Given the description of an element on the screen output the (x, y) to click on. 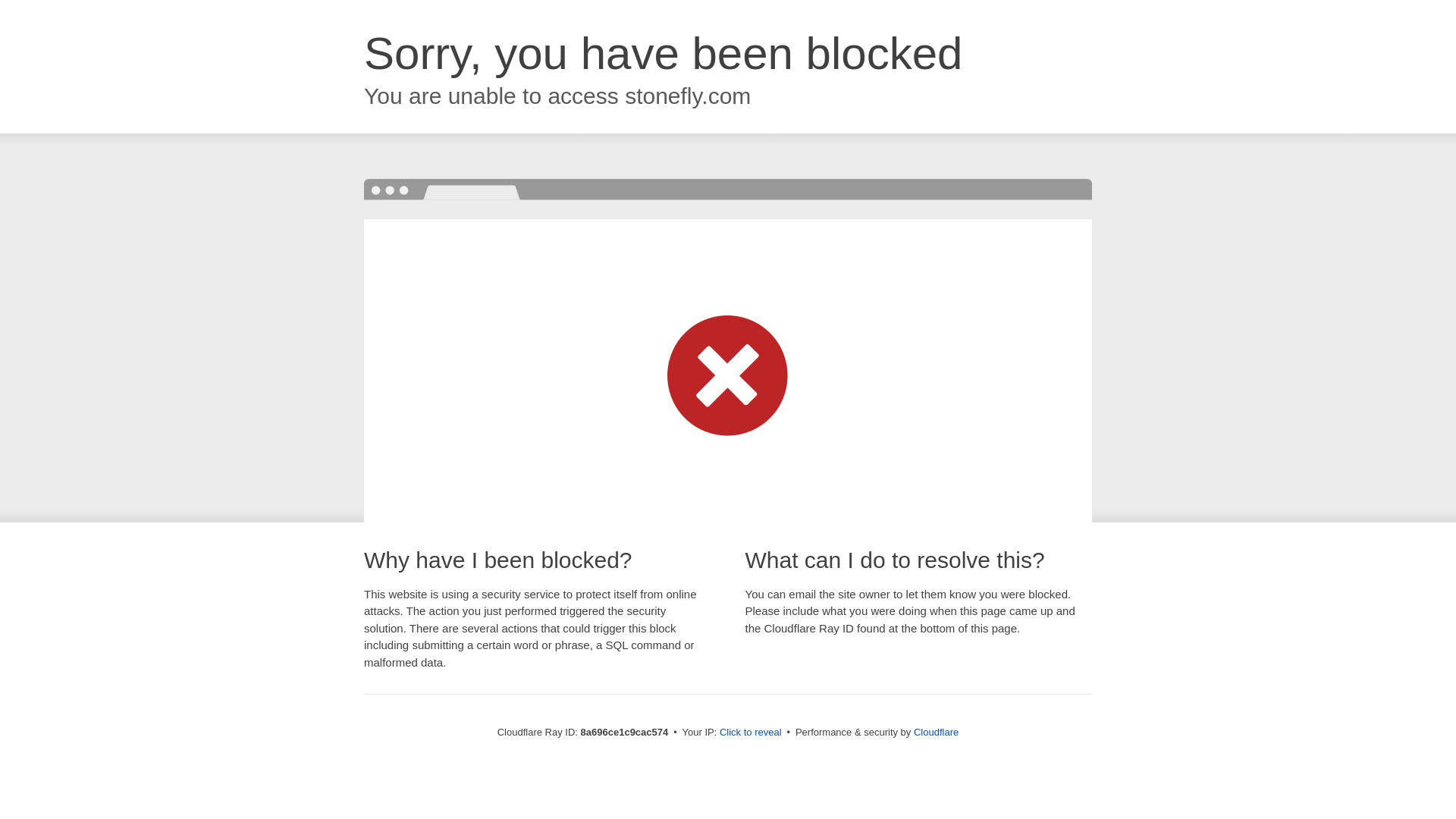
Cloudflare (936, 731)
Click to reveal (750, 732)
